Given the description of an element on the screen output the (x, y) to click on. 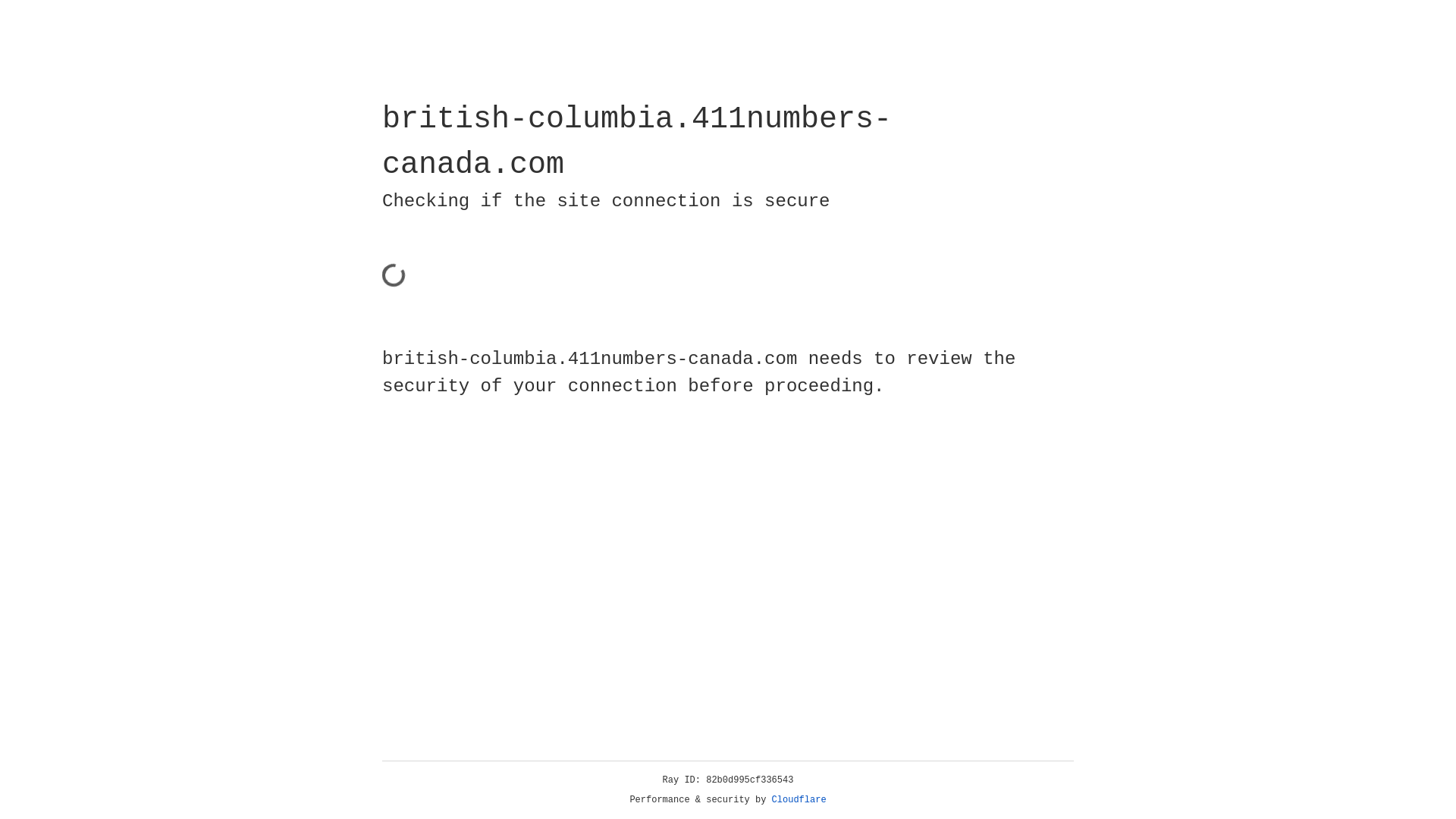
Cloudflare Element type: text (798, 799)
